Given the description of an element on the screen output the (x, y) to click on. 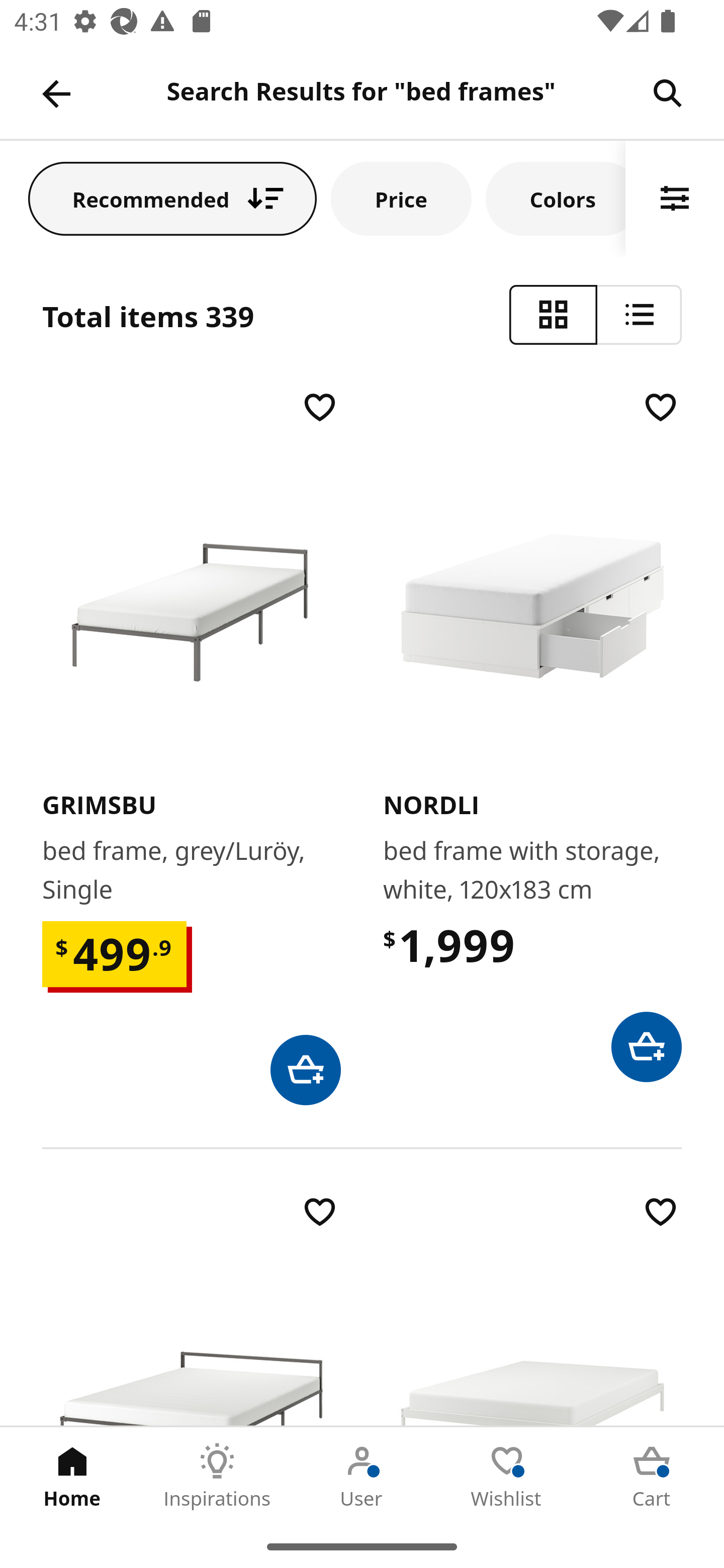
Recommended (172, 198)
Price (400, 198)
Colors (555, 198)
Home
Tab 1 of 5 (72, 1476)
Inspirations
Tab 2 of 5 (216, 1476)
User
Tab 3 of 5 (361, 1476)
Wishlist
Tab 4 of 5 (506, 1476)
Cart
Tab 5 of 5 (651, 1476)
